Given the description of an element on the screen output the (x, y) to click on. 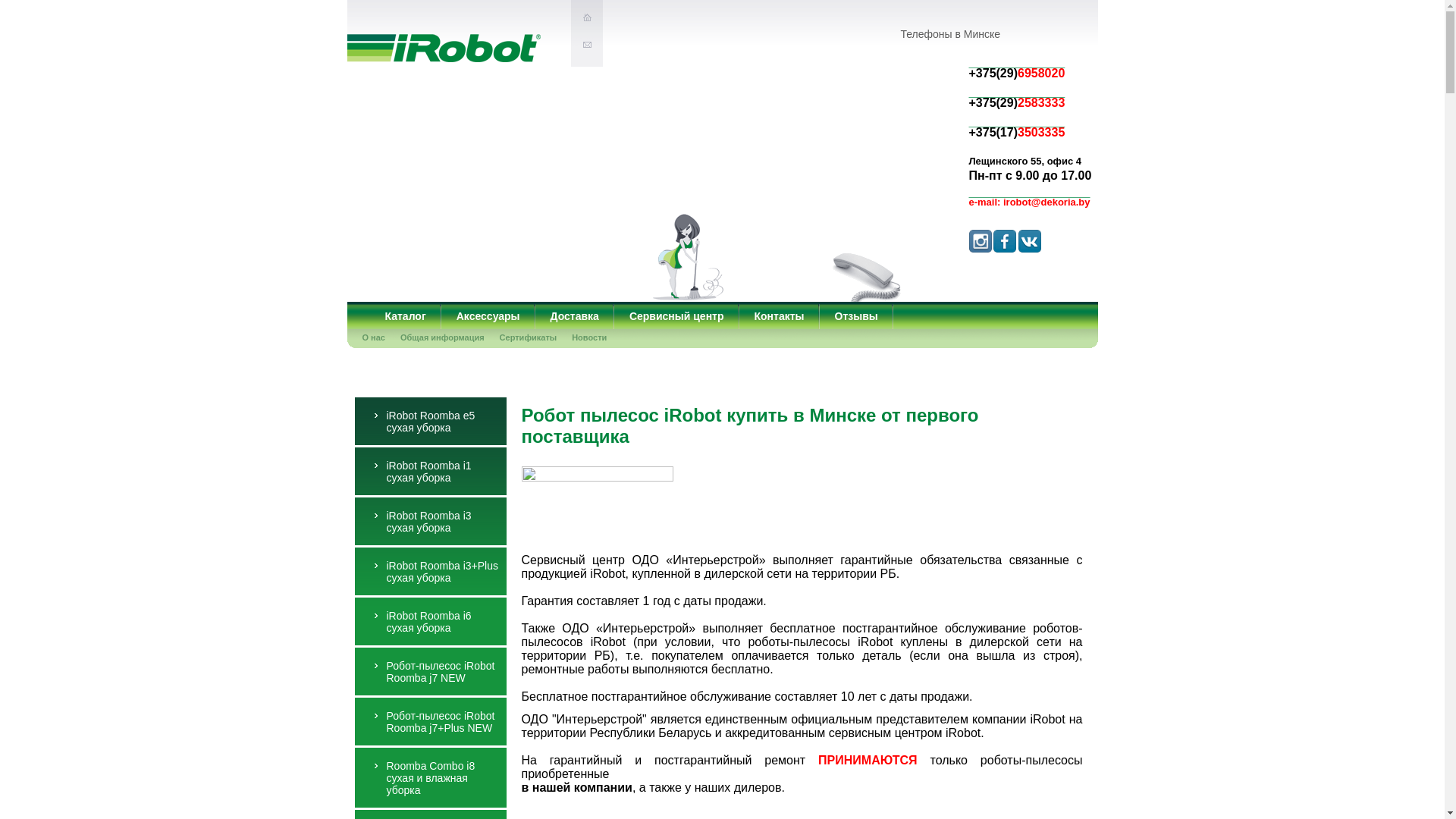
+375(17)3503335 Element type: text (1017, 121)
Vkontakte Element type: hover (1054, 241)
  Element type: text (583, 46)
+375(29)2583333 Element type: text (1017, 91)
+375(29)6958020 Element type: text (1017, 62)
  Element type: text (583, 19)
Instagram Element type: hover (980, 226)
e-mail: irobot@dekoria.by Element type: text (1029, 192)
Facebook Element type: hover (1004, 226)
